Given the description of an element on the screen output the (x, y) to click on. 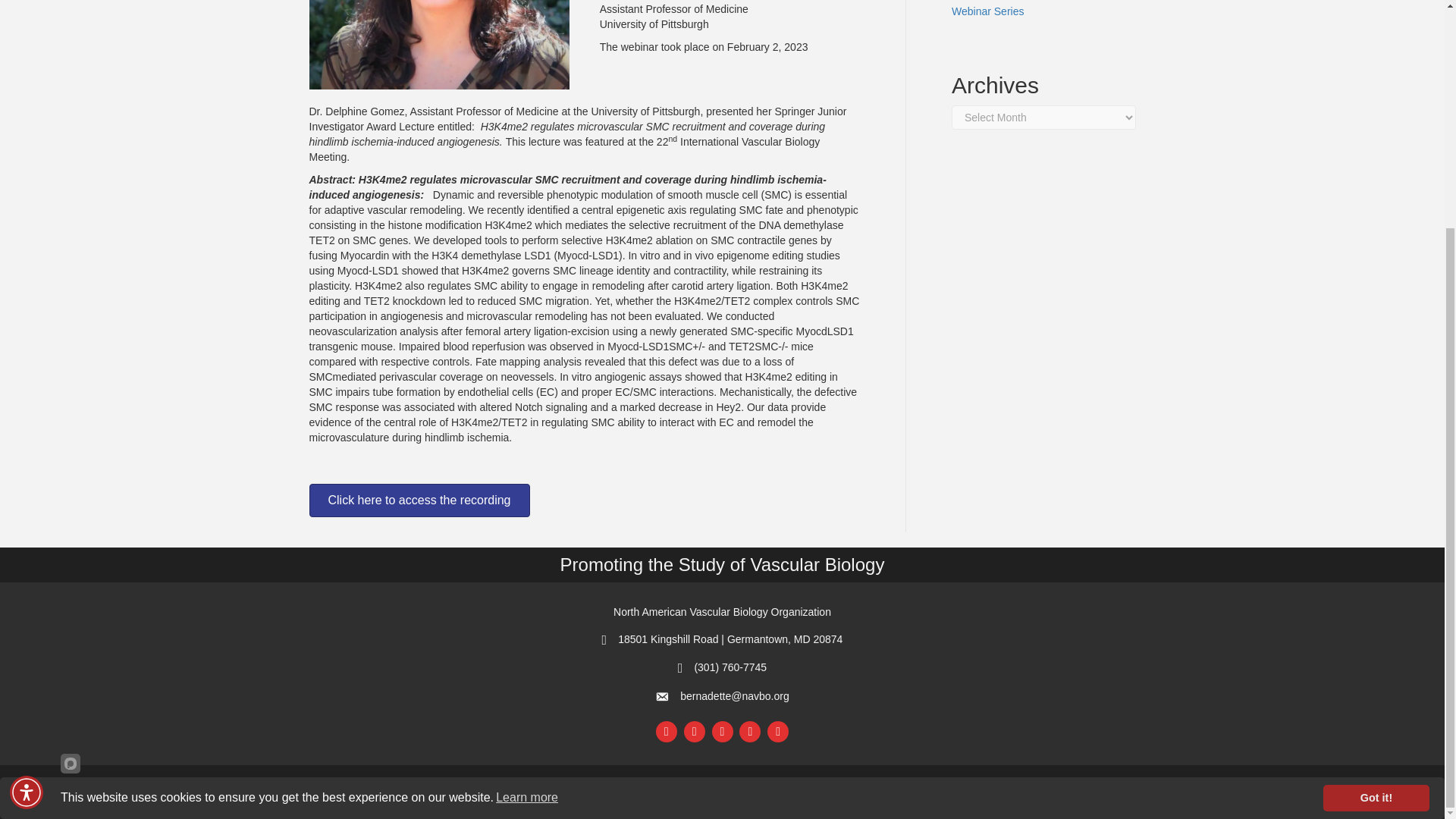
Gomez (438, 44)
Accessibility Menu (26, 485)
